Given the description of an element on the screen output the (x, y) to click on. 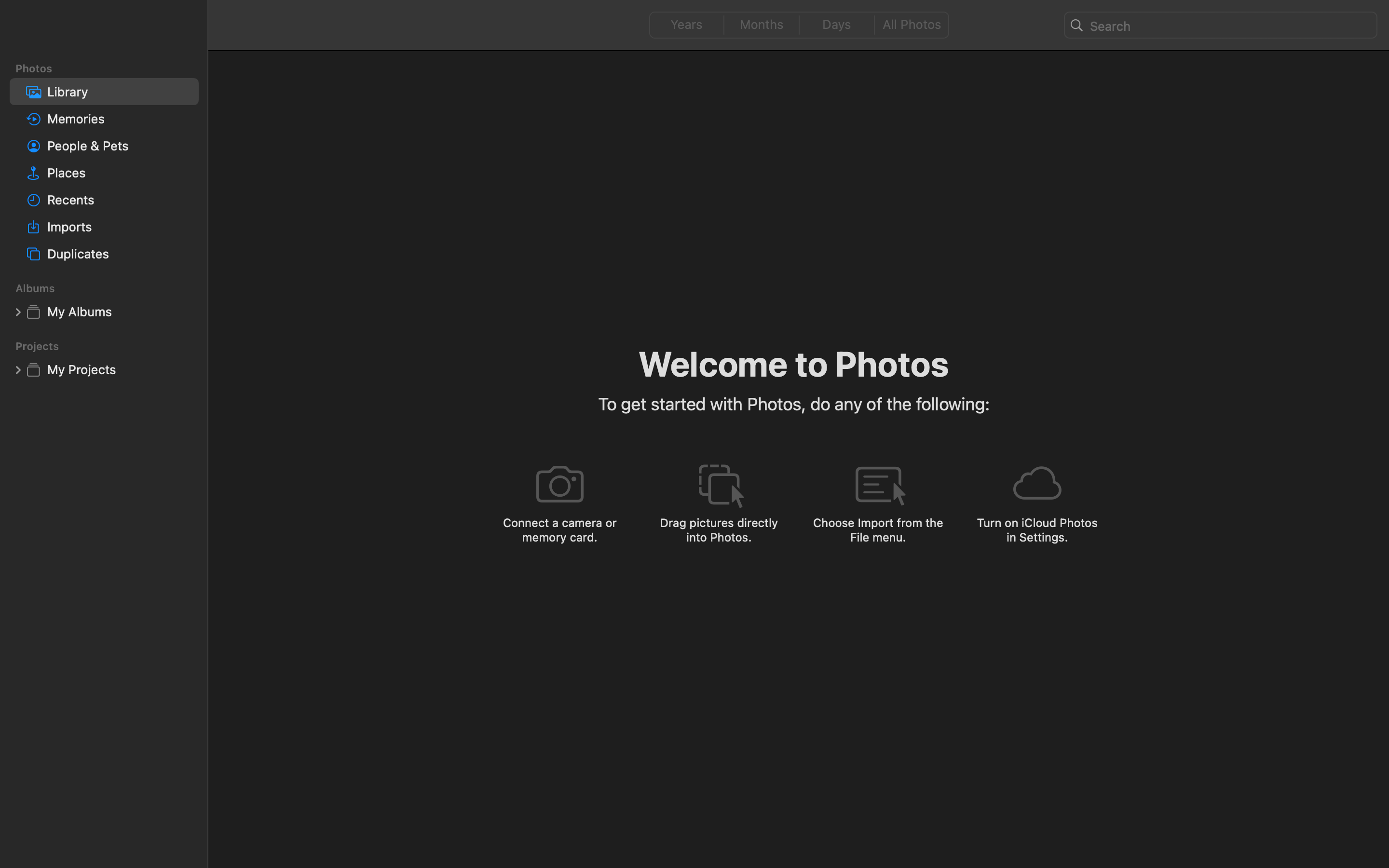
Places Element type: AXStaticText (118, 172)
